Given the description of an element on the screen output the (x, y) to click on. 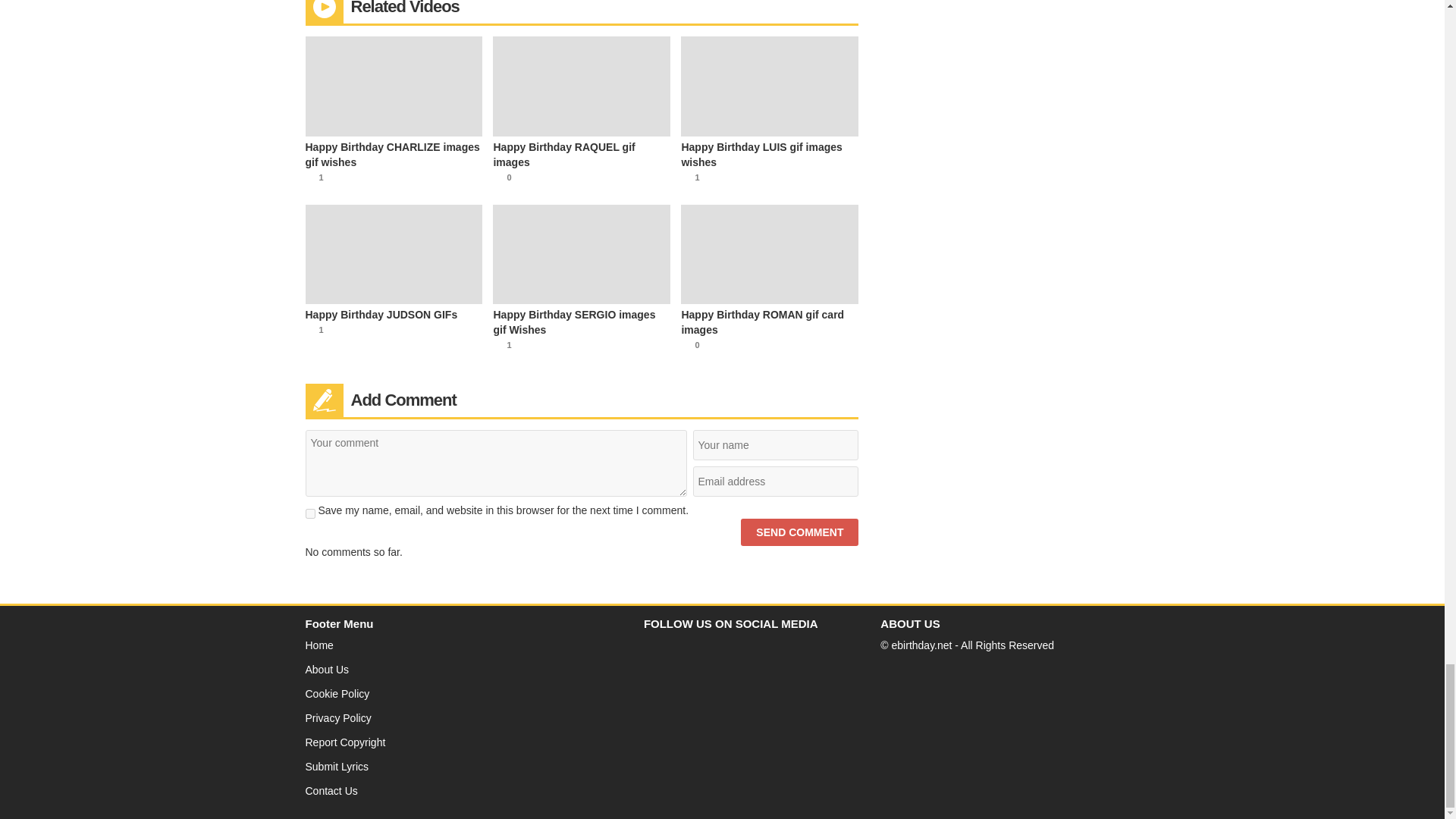
SEND COMMENT (800, 532)
yes (309, 513)
Follow us on Facebook (655, 649)
Happy Birthday CHARLIZE images gif wishes (392, 154)
Follow us on Youtube (684, 649)
